Given the description of an element on the screen output the (x, y) to click on. 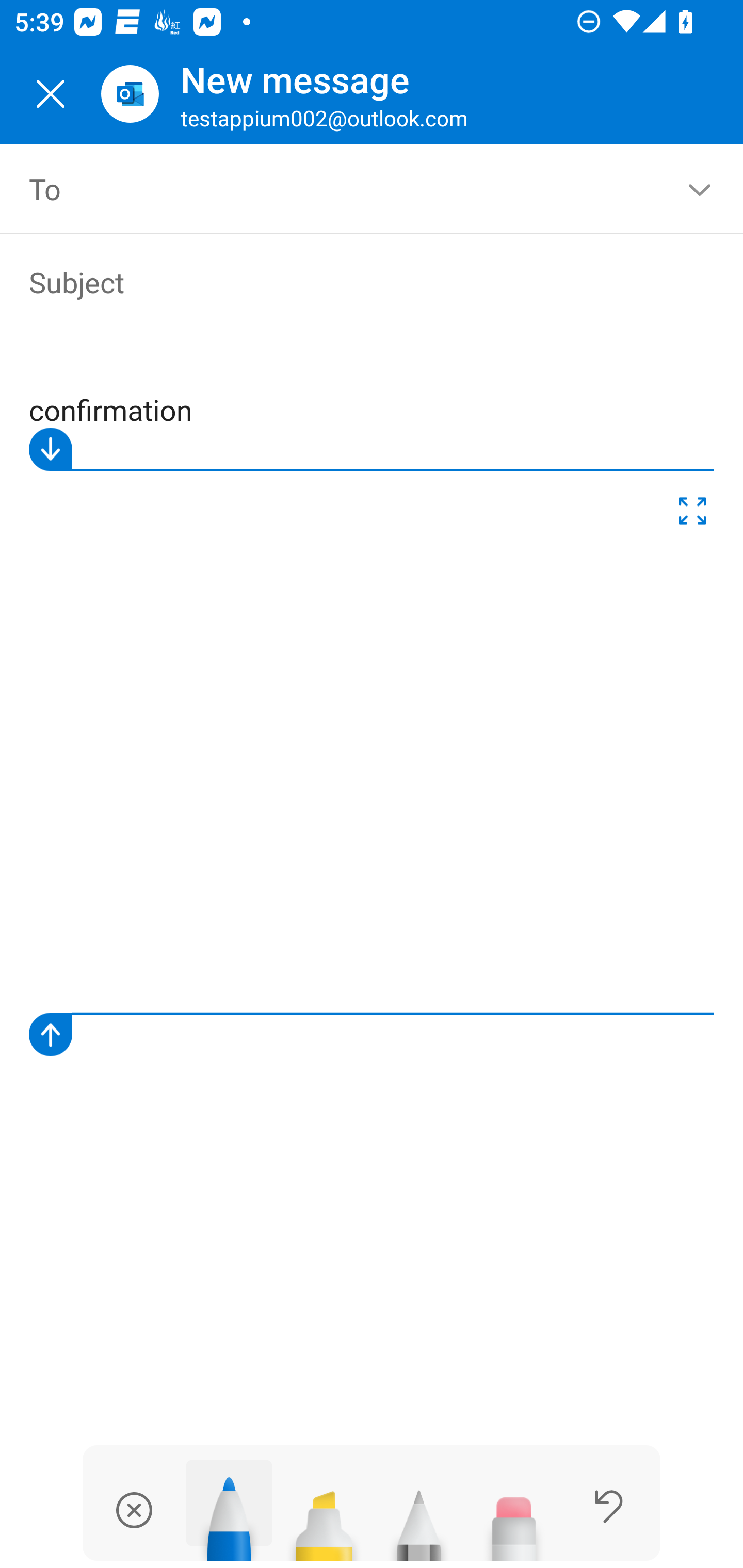
Close (50, 93)
Subject (342, 281)

confirmation
 (372, 710)
Canvas upper bound (371, 449)
Expand Drawing (692, 514)
Canvas Lower Bound (371, 1034)
Pen tool (228, 1509)
Undo last stroke (608, 1505)
dismiss ink and save drawing (133, 1510)
Highlighter tool (323, 1517)
Pencil tool (418, 1517)
Eraser tool (513, 1517)
